Given the description of an element on the screen output the (x, y) to click on. 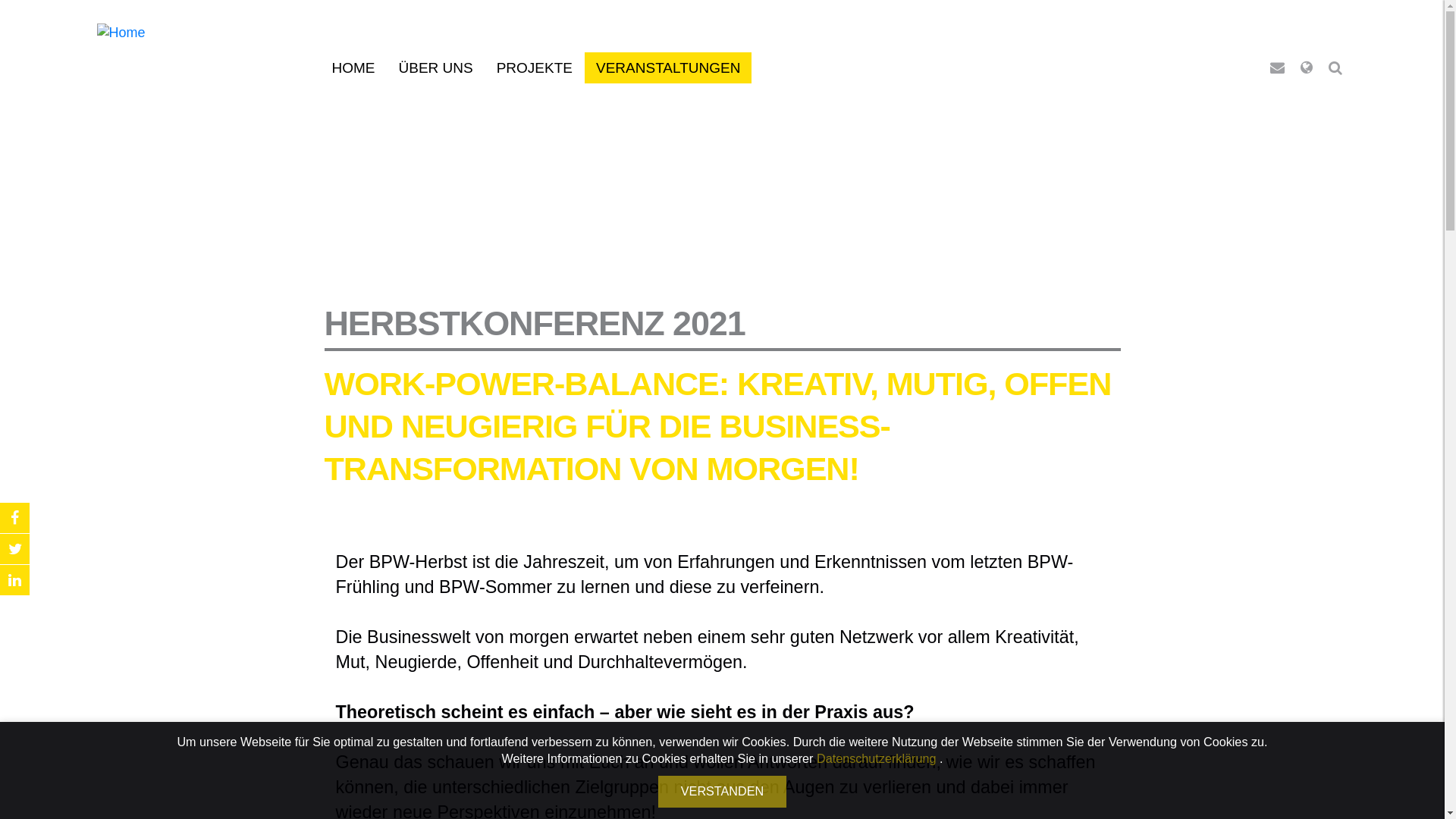
HOME Element type: text (352, 67)
PROJEKTE Element type: text (534, 67)
VERANSTALTUNGEN Element type: text (667, 67)
Home Element type: hover (121, 32)
VERSTANDEN Element type: text (722, 791)
